Given the description of an element on the screen output the (x, y) to click on. 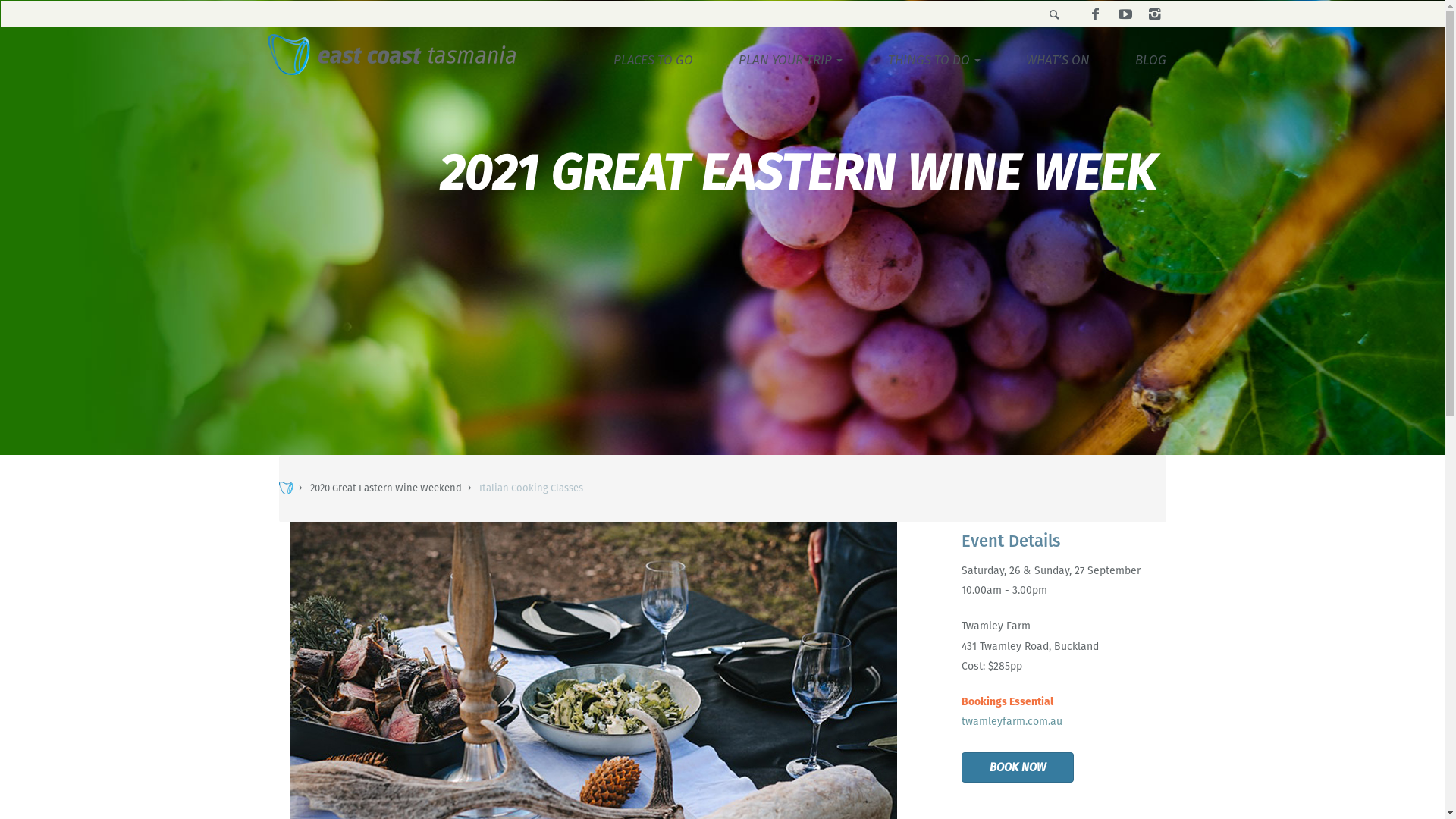
PLAN YOUR TRIP Element type: text (790, 59)
THINGS TO DO Element type: text (933, 59)
BOOK NOW Element type: text (1017, 767)
PLACES TO GO Element type: text (652, 59)
FACEBOOK Element type: text (1094, 14)
Search Element type: text (47, 15)
YOUTUBE Element type: text (1125, 14)
BLOG Element type: text (1149, 59)
SEARCH Element type: text (1053, 14)
twamleyfarm.com.au Element type: text (1011, 720)
INSTAGRAM Element type: text (1153, 14)
2020 Great Eastern Wine Weekend Element type: text (385, 487)
